Given the description of an element on the screen output the (x, y) to click on. 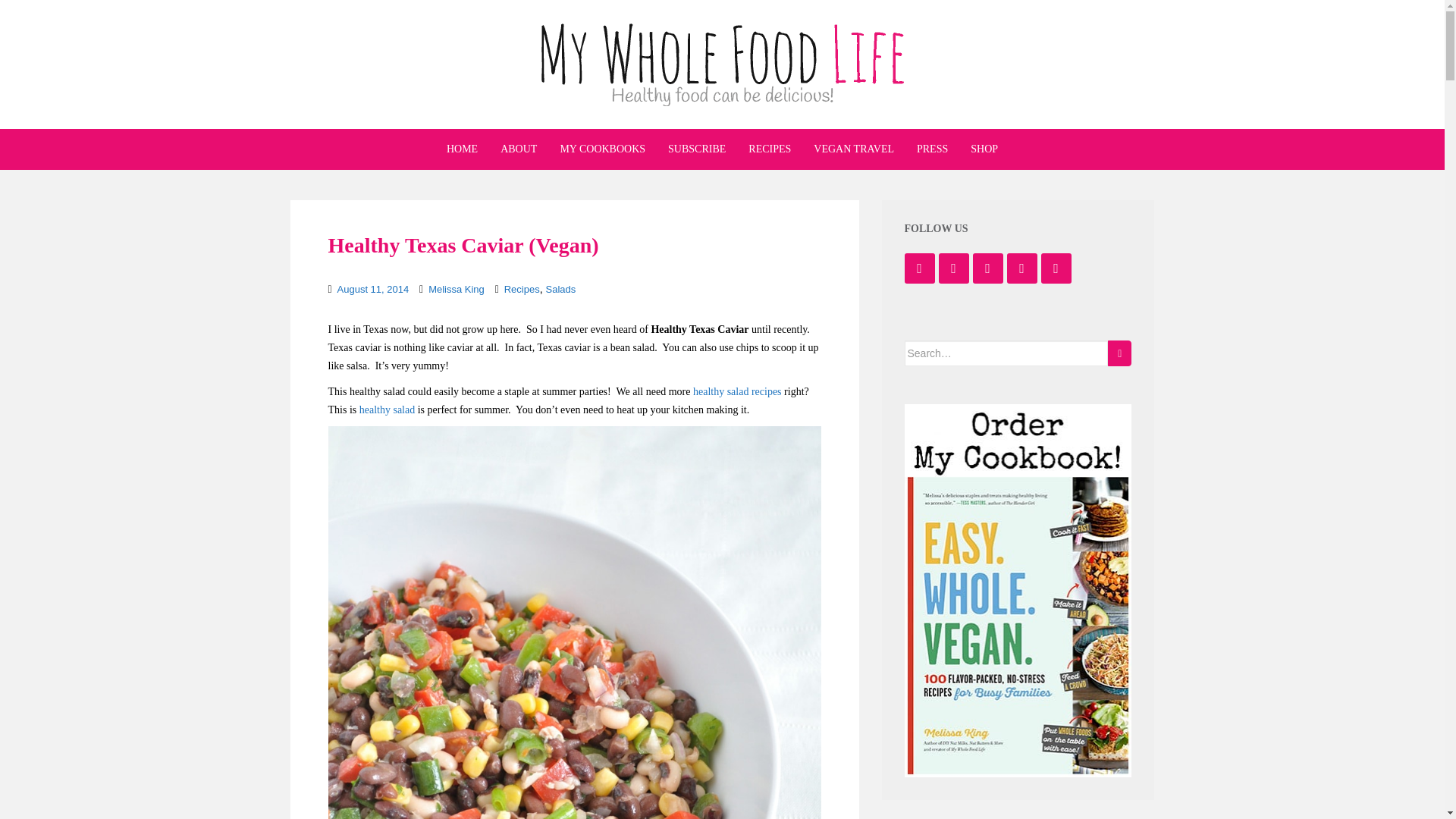
RECIPES (769, 149)
ABOUT (518, 149)
HOME (461, 149)
Salads (559, 288)
healthy salad (386, 409)
August 11, 2014 (373, 288)
healthy salad recipes (737, 391)
SHOP (984, 149)
PRESS (932, 149)
SUBSCRIBE (696, 149)
